Given the description of an element on the screen output the (x, y) to click on. 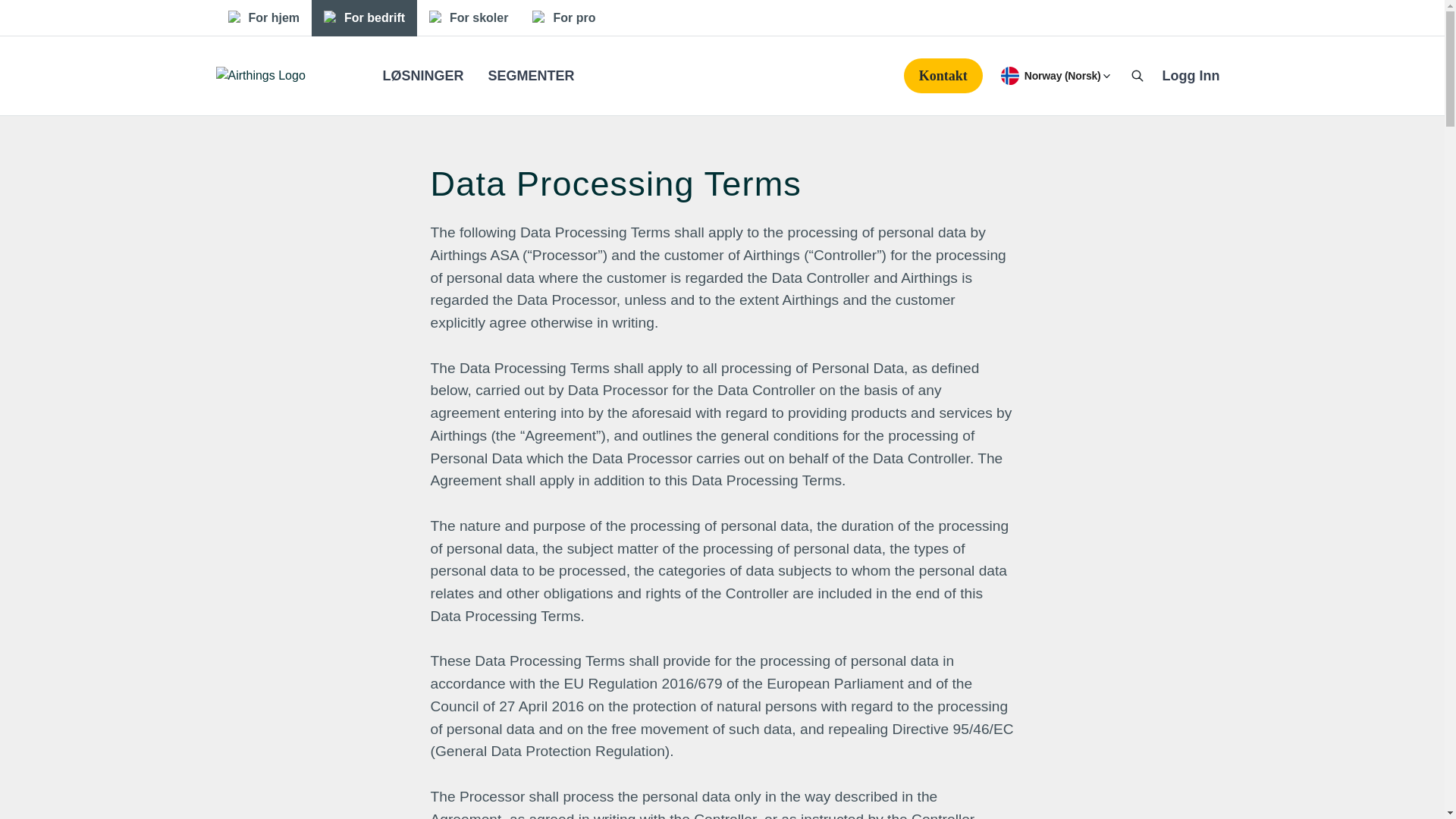
SEGMENTER (531, 75)
Kontakt (943, 75)
For pro (563, 18)
For hjem (263, 18)
For bedrift (363, 18)
For skoler (467, 18)
